Given the description of an element on the screen output the (x, y) to click on. 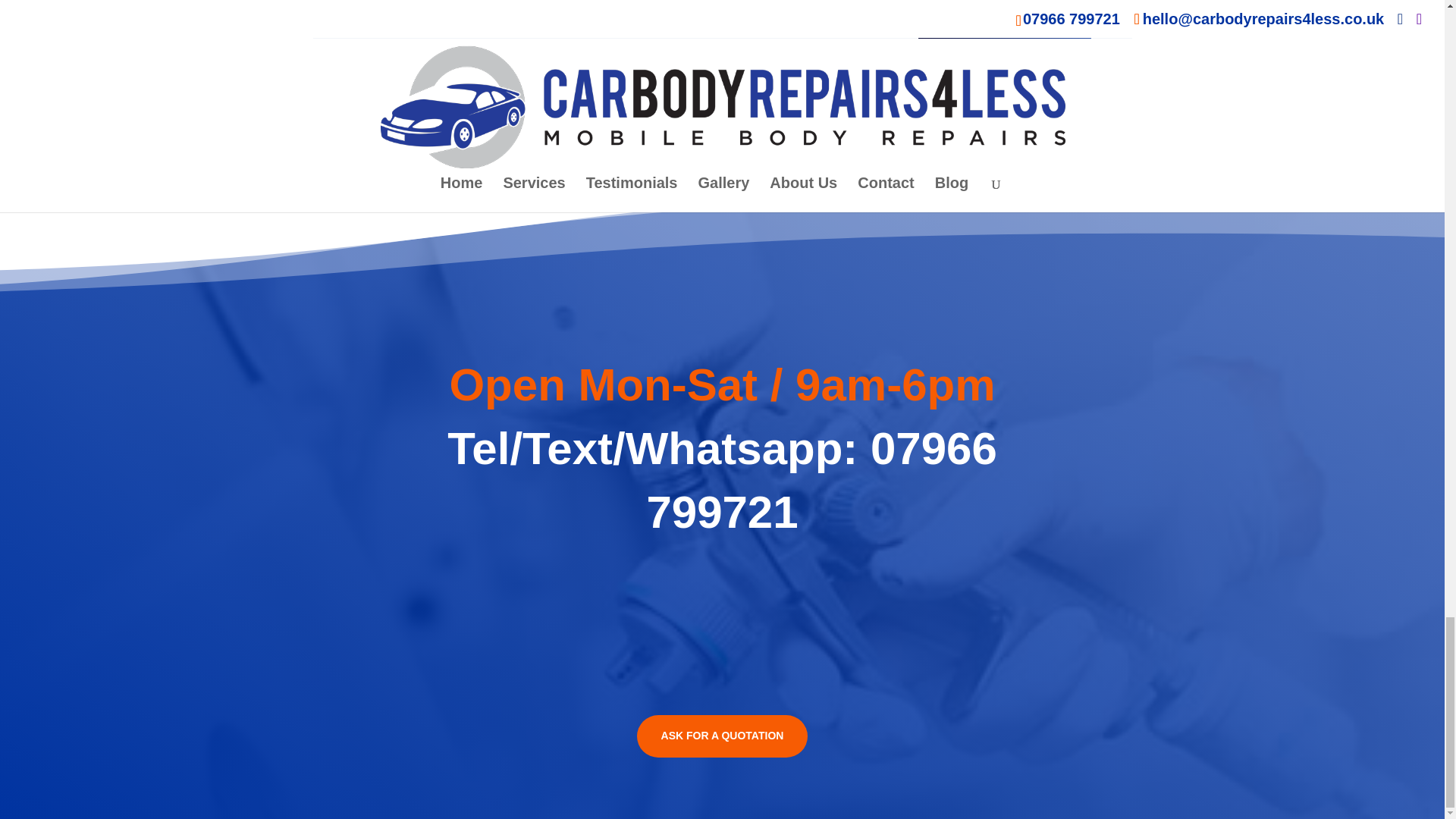
SUBMIT COMMENT (1004, 20)
ASK FOR A QUOTATION (722, 735)
